Given the description of an element on the screen output the (x, y) to click on. 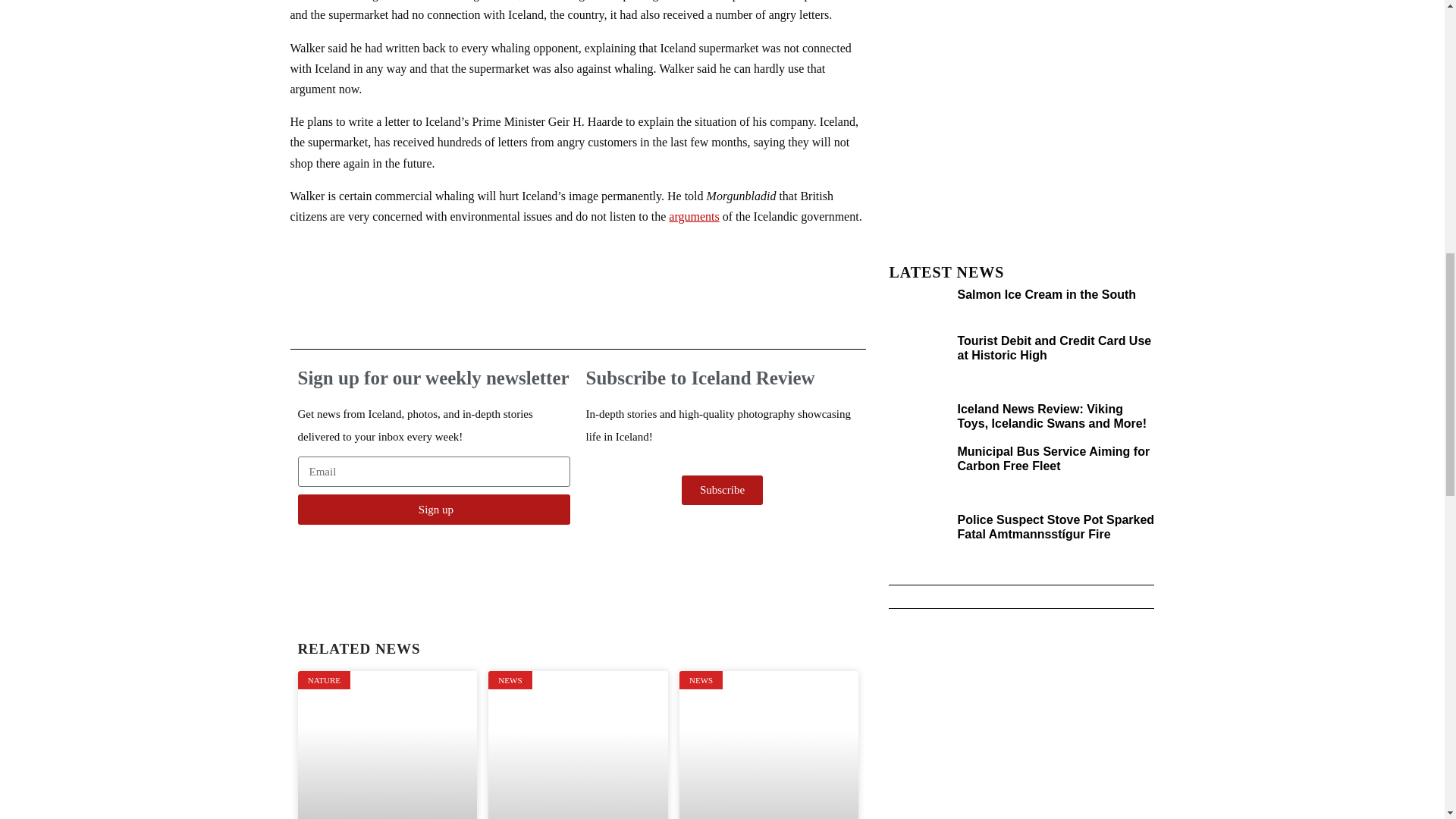
Salmon Ice Cream in the South (1045, 294)
Municipal Bus Service Aiming for Carbon Free Fleet (1053, 458)
Iceland News Review: Viking Toys, Icelandic Swans and More! (1051, 415)
Tourist Debit and Credit Card Use at Historic High (1053, 347)
